Given the description of an element on the screen output the (x, y) to click on. 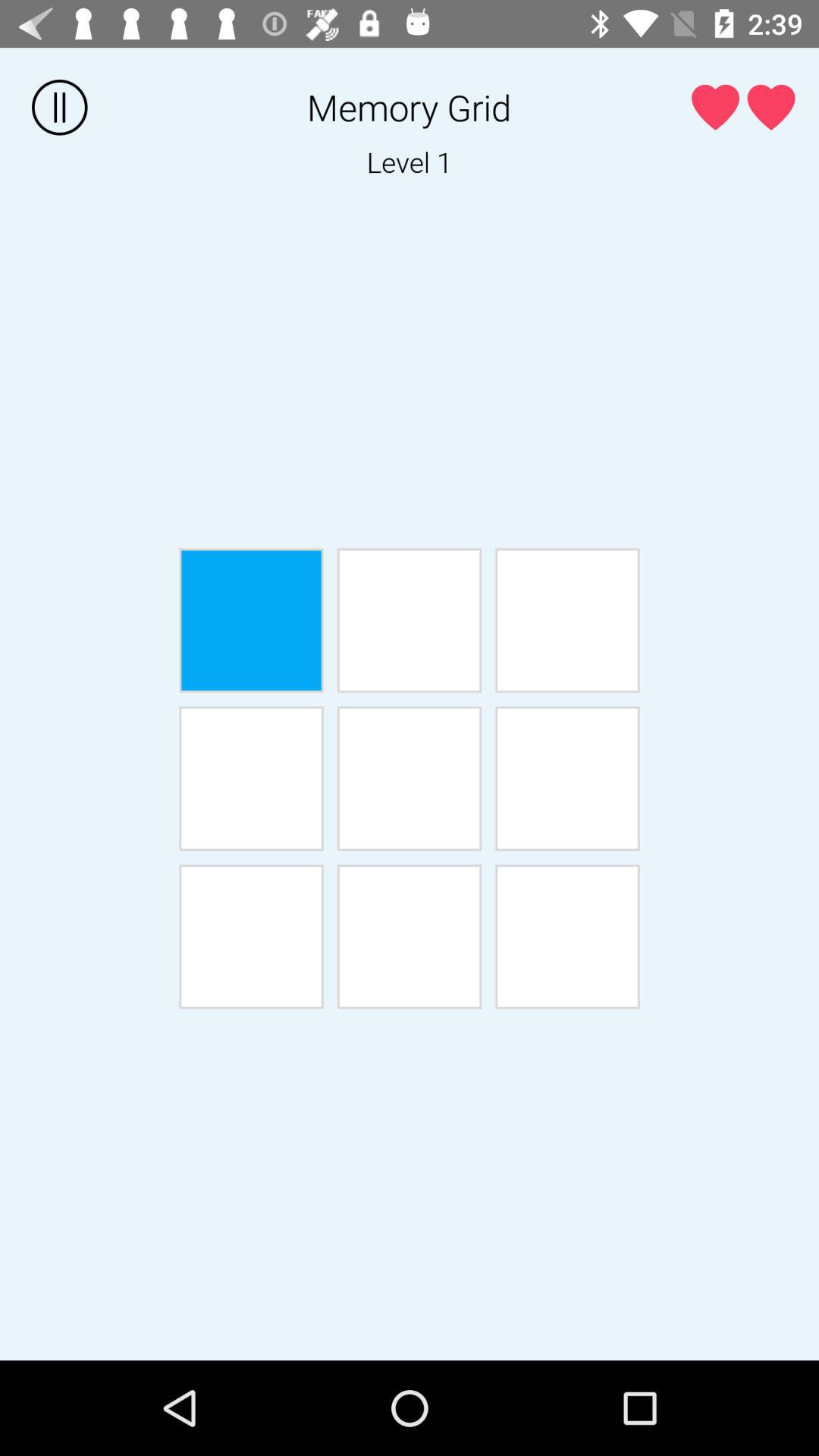
select center square (409, 778)
